Given the description of an element on the screen output the (x, y) to click on. 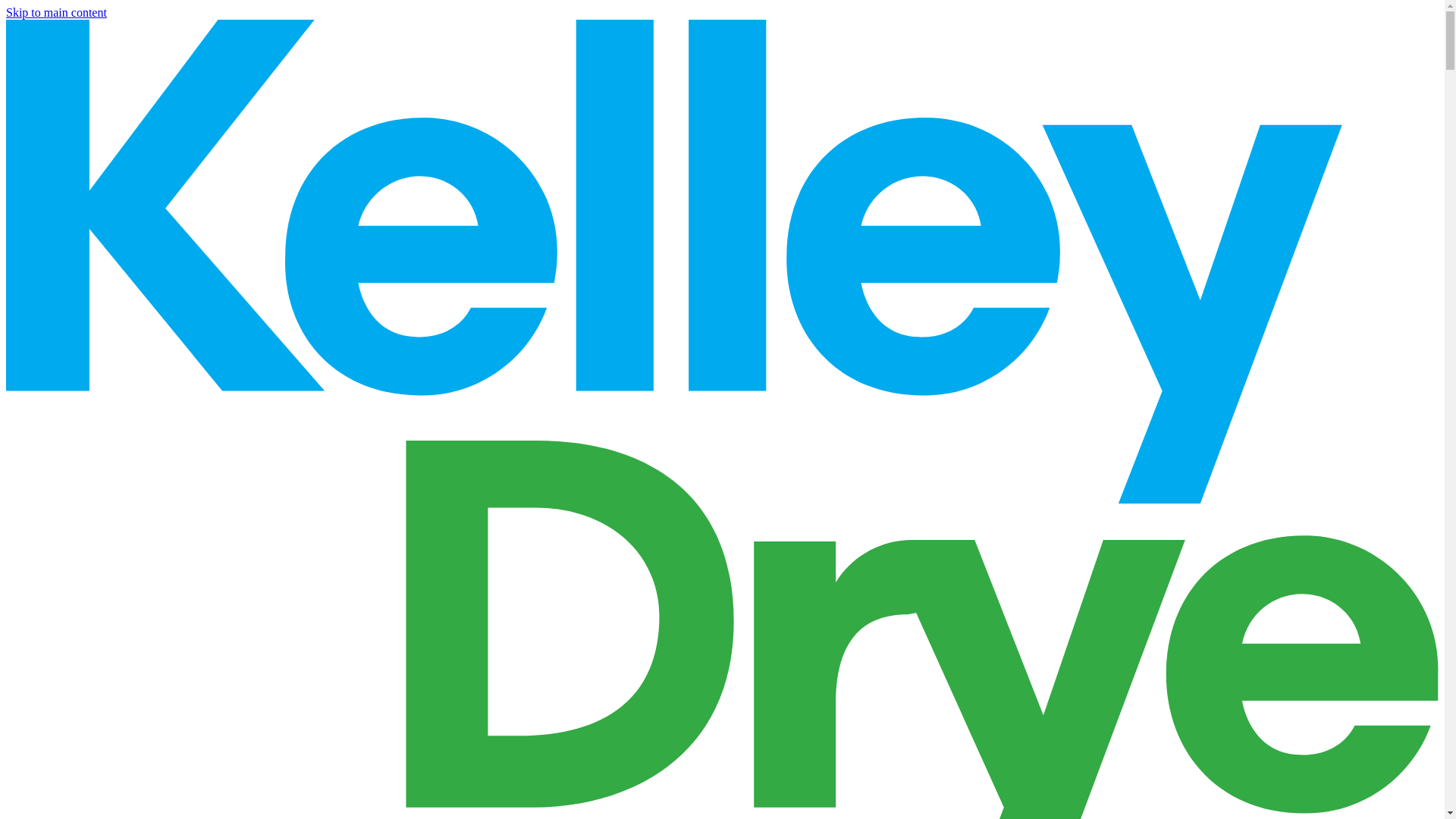
Skip to main content (55, 11)
